Given the description of an element on the screen output the (x, y) to click on. 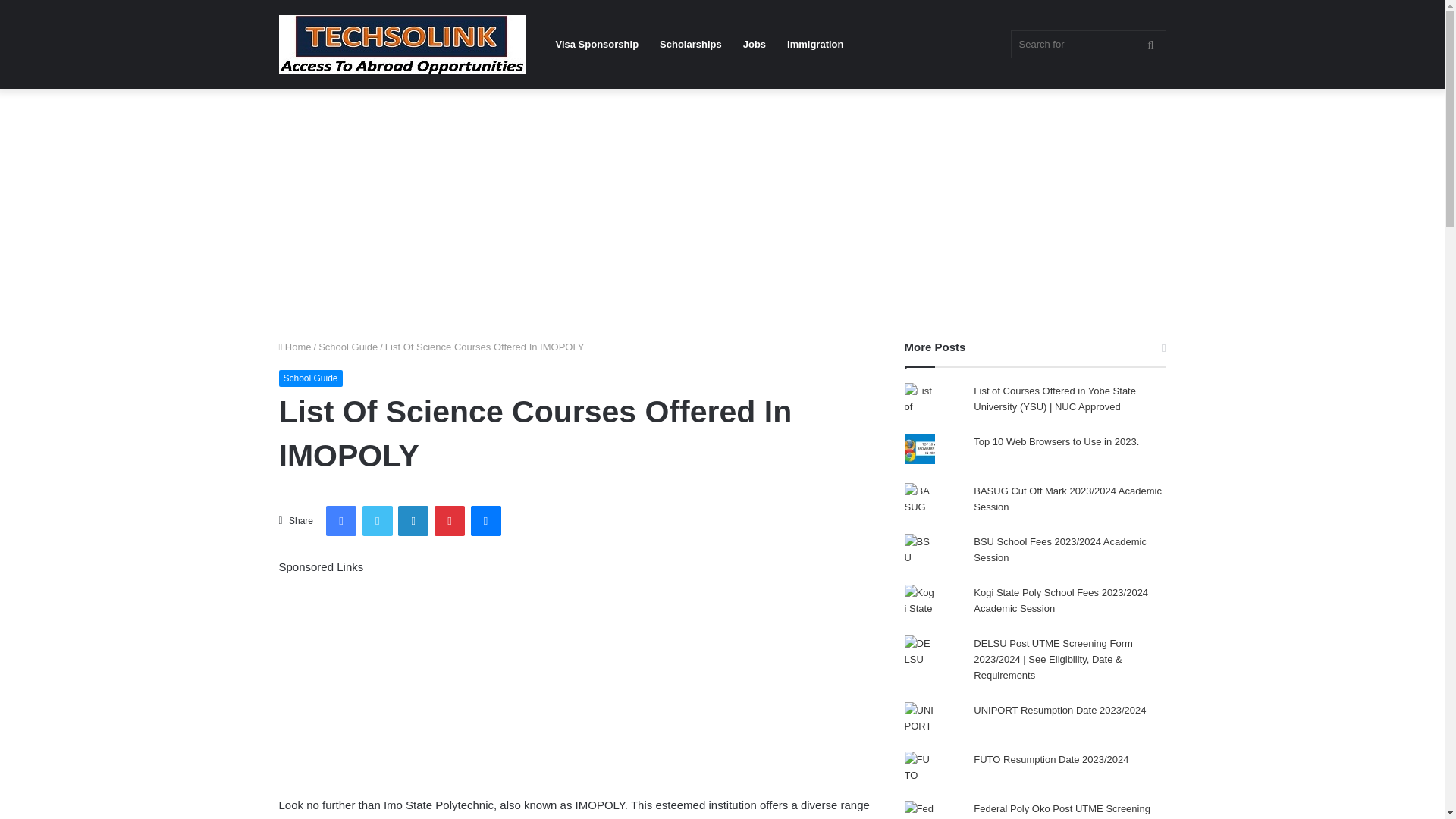
Messenger (485, 521)
Facebook (341, 521)
Visa Sponsorship (596, 44)
Home (295, 346)
Messenger (485, 521)
Pinterest (448, 521)
LinkedIn (412, 521)
Facebook (341, 521)
Twitter (377, 521)
